Given the description of an element on the screen output the (x, y) to click on. 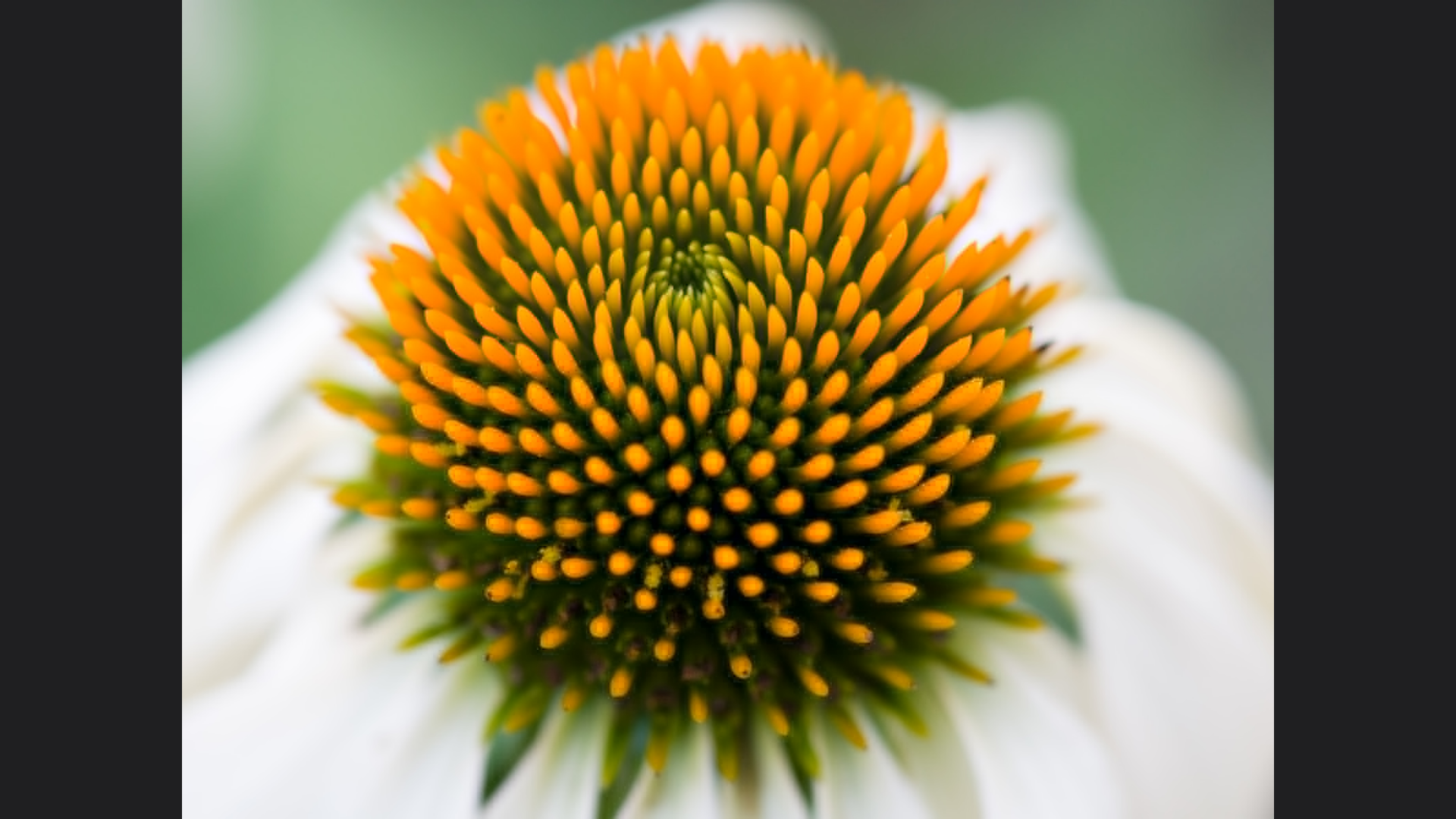
Privacy Element type: text (338, 440)
Terms Element type: text (300, 440)
Prints & Gifts Element type: text (252, 440)
Owner Log In Element type: text (430, 440)
Share Gallery Element type: hover (1401, 115)
Photo Sharing Element type: text (38, 440)
Contact Element type: text (378, 440)
Browse Photos Element type: text (186, 440)
About SmugMug Element type: text (112, 440)
Coneflower Element type: text (414, 321)
Search "Plants and Flowers" for photos Element type: hover (1380, 22)
Water lily Element type: text (756, 321)
SmugMug Element type: hover (59, 22)
Trillium Element type: text (56, 321)
Daylily Element type: text (576, 321)
Pink Rose Element type: text (236, 321)
